Given the description of an element on the screen output the (x, y) to click on. 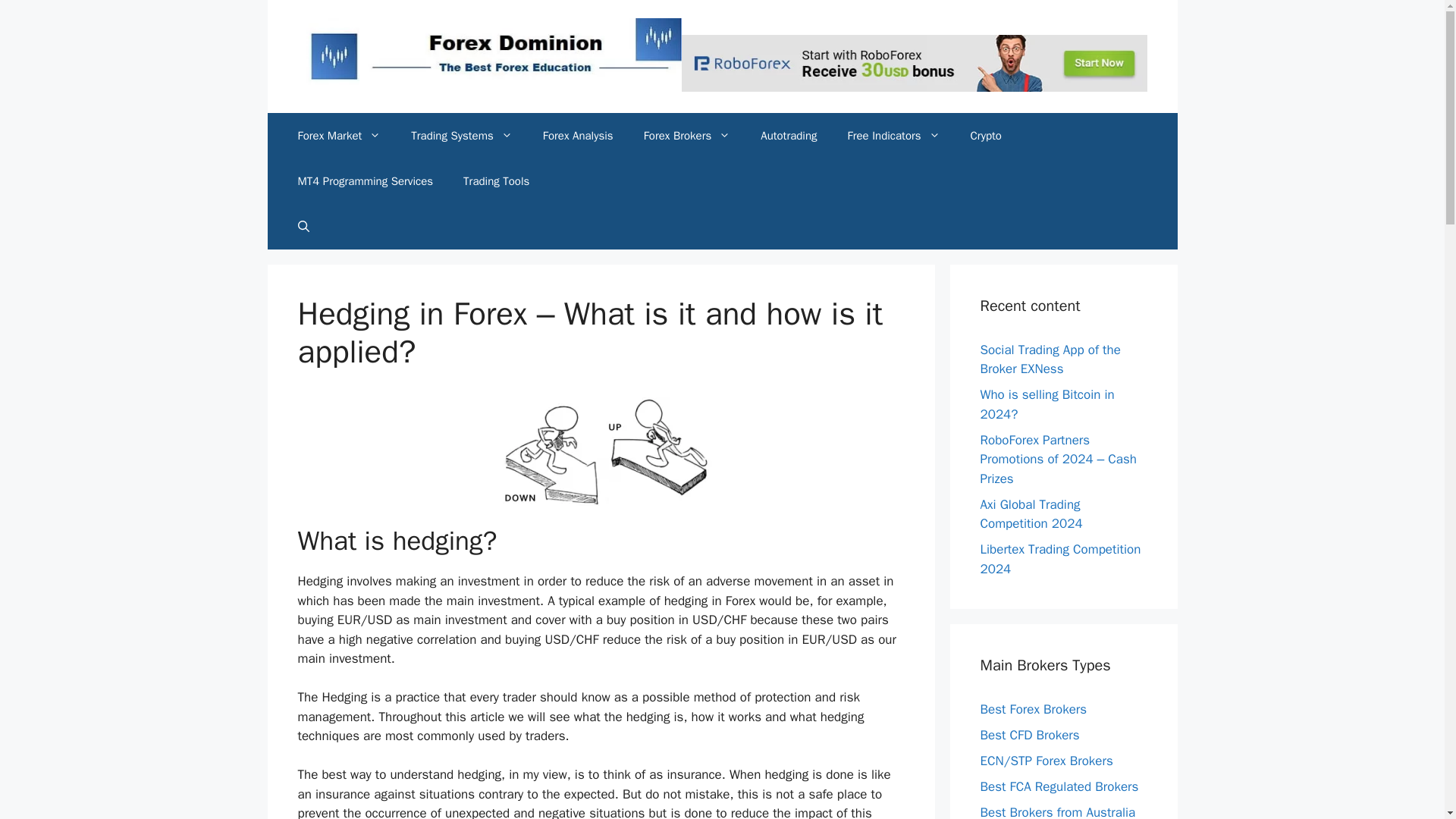
Forex Analysis (577, 135)
Forex Market (339, 135)
Trading Systems (461, 135)
Forex Brokers (686, 135)
